Given the description of an element on the screen output the (x, y) to click on. 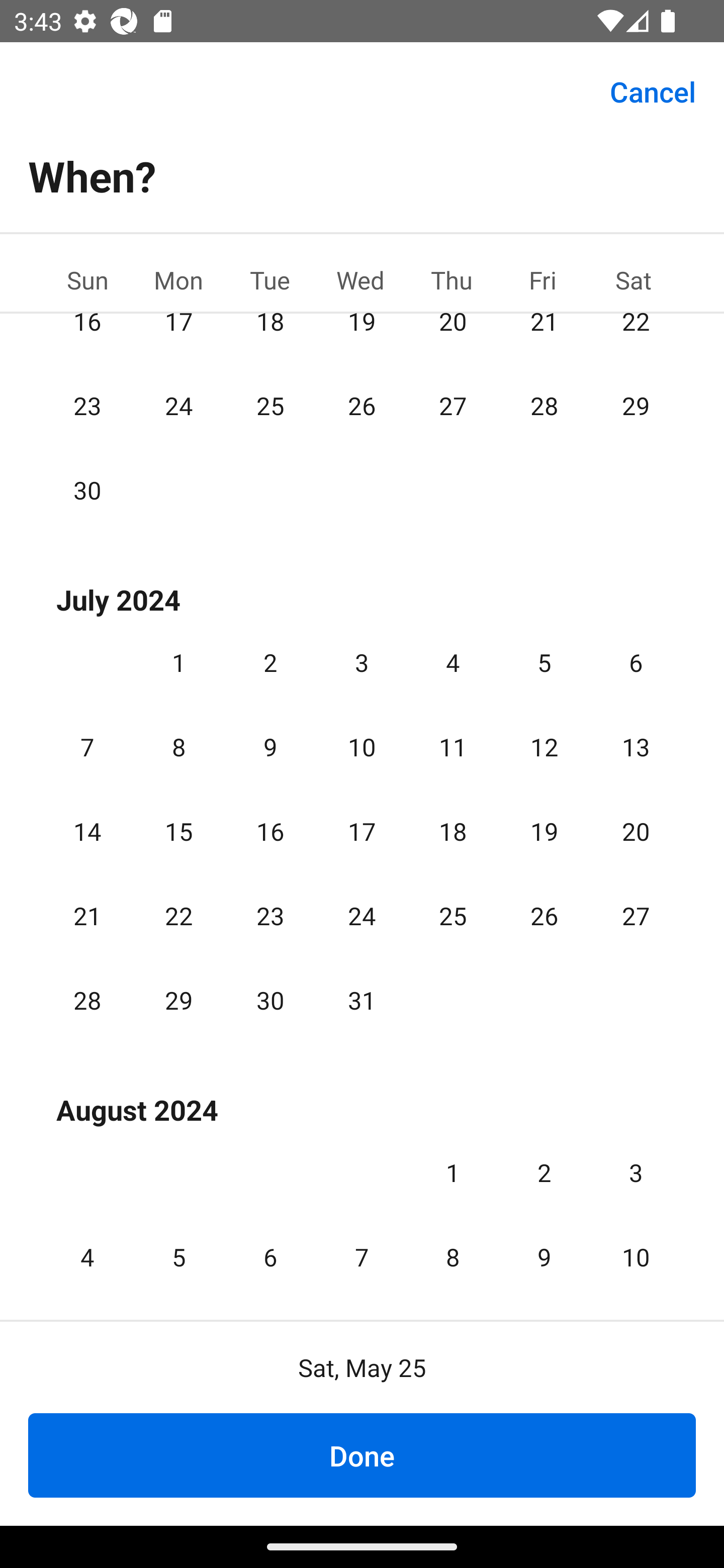
Cancel (652, 90)
Done (361, 1454)
